Given the description of an element on the screen output the (x, y) to click on. 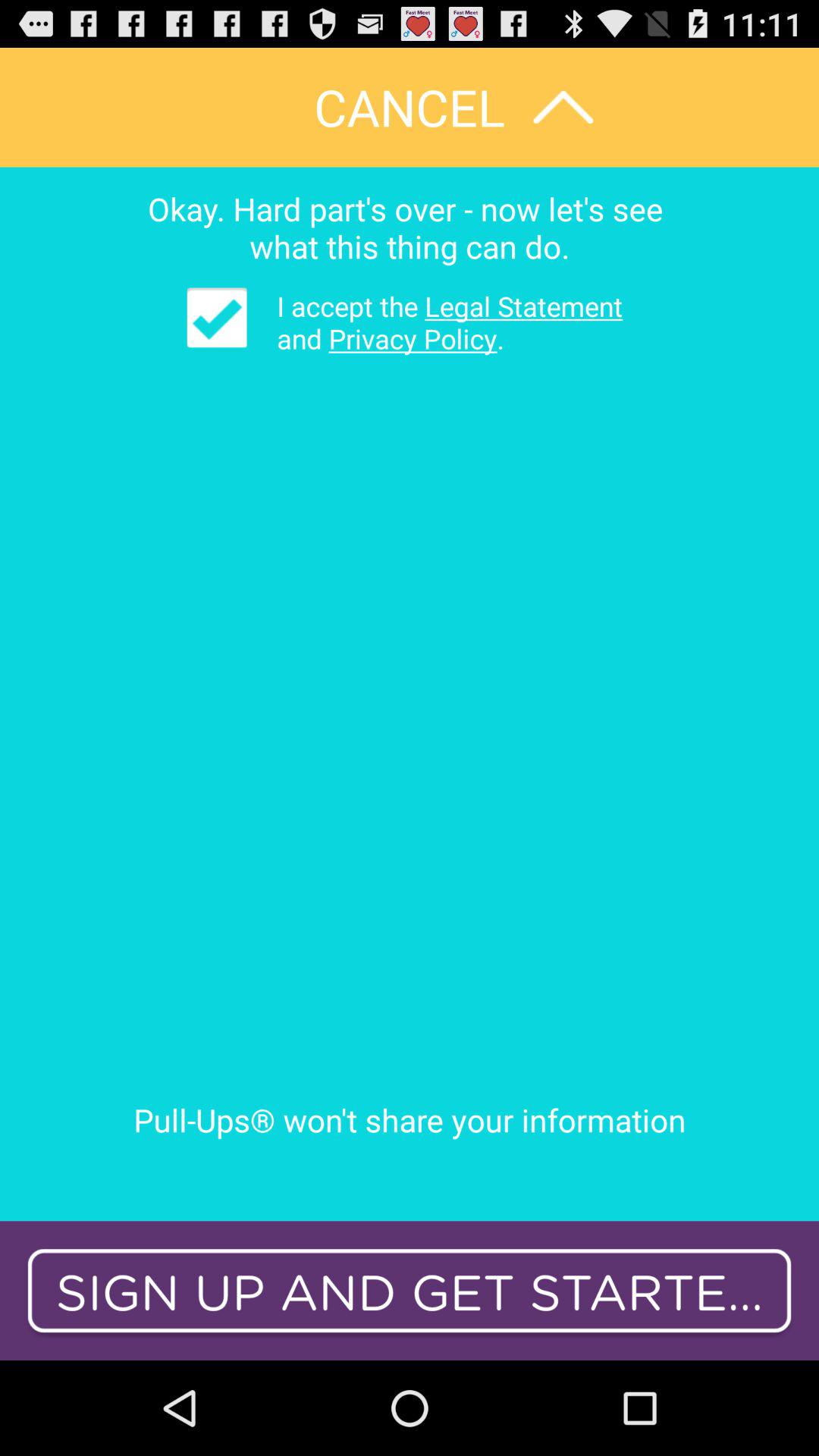
open item above the pull ups won app (438, 322)
